Given the description of an element on the screen output the (x, y) to click on. 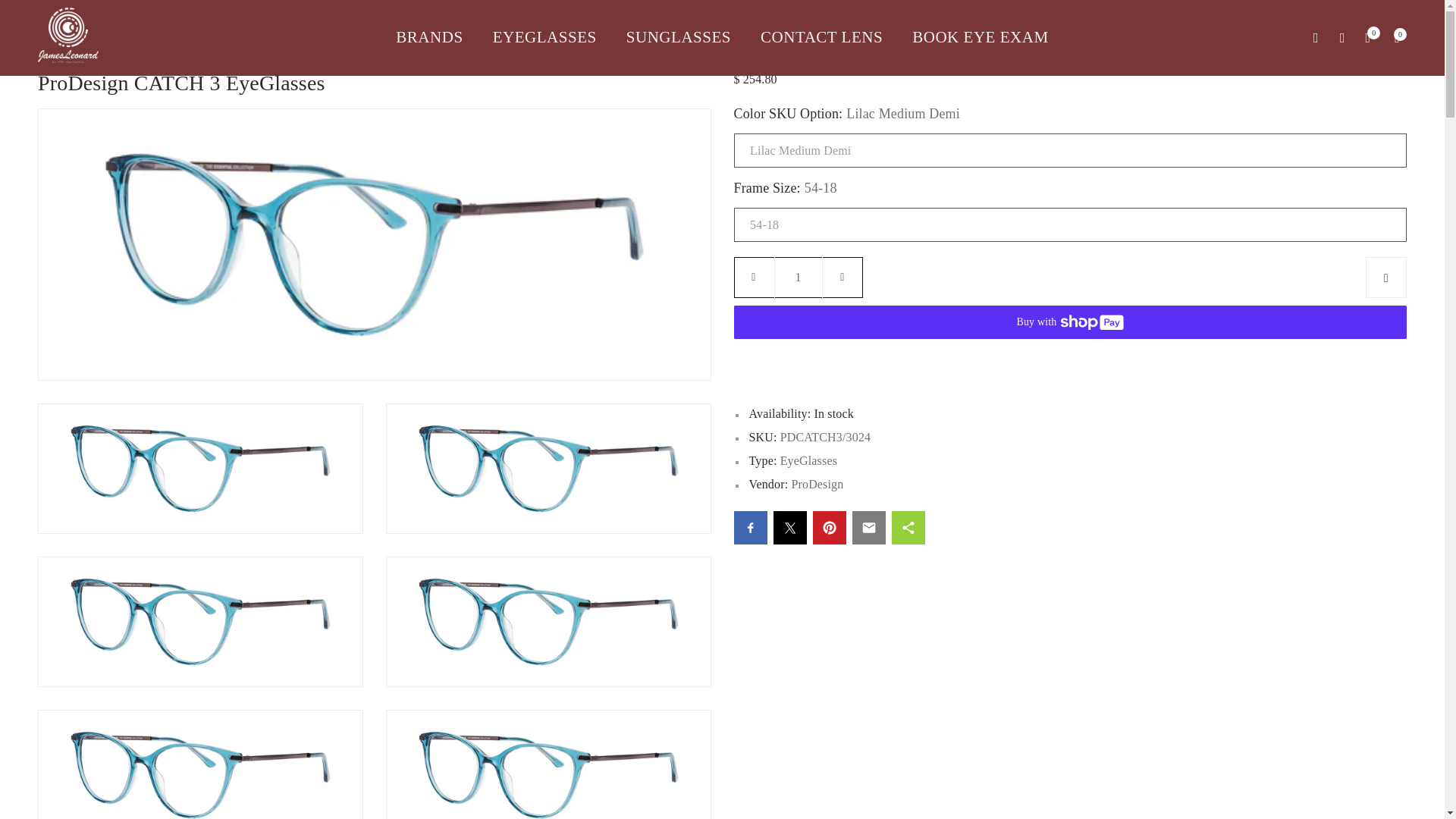
Home (51, 46)
Add to Wishlist (1385, 277)
SUNGLASSES (678, 37)
EYEGLASSES (545, 37)
1 (798, 277)
BRANDS (436, 37)
Home (51, 46)
CONTACT LENS (821, 37)
BOOK EYE EXAM (973, 37)
